Given the description of an element on the screen output the (x, y) to click on. 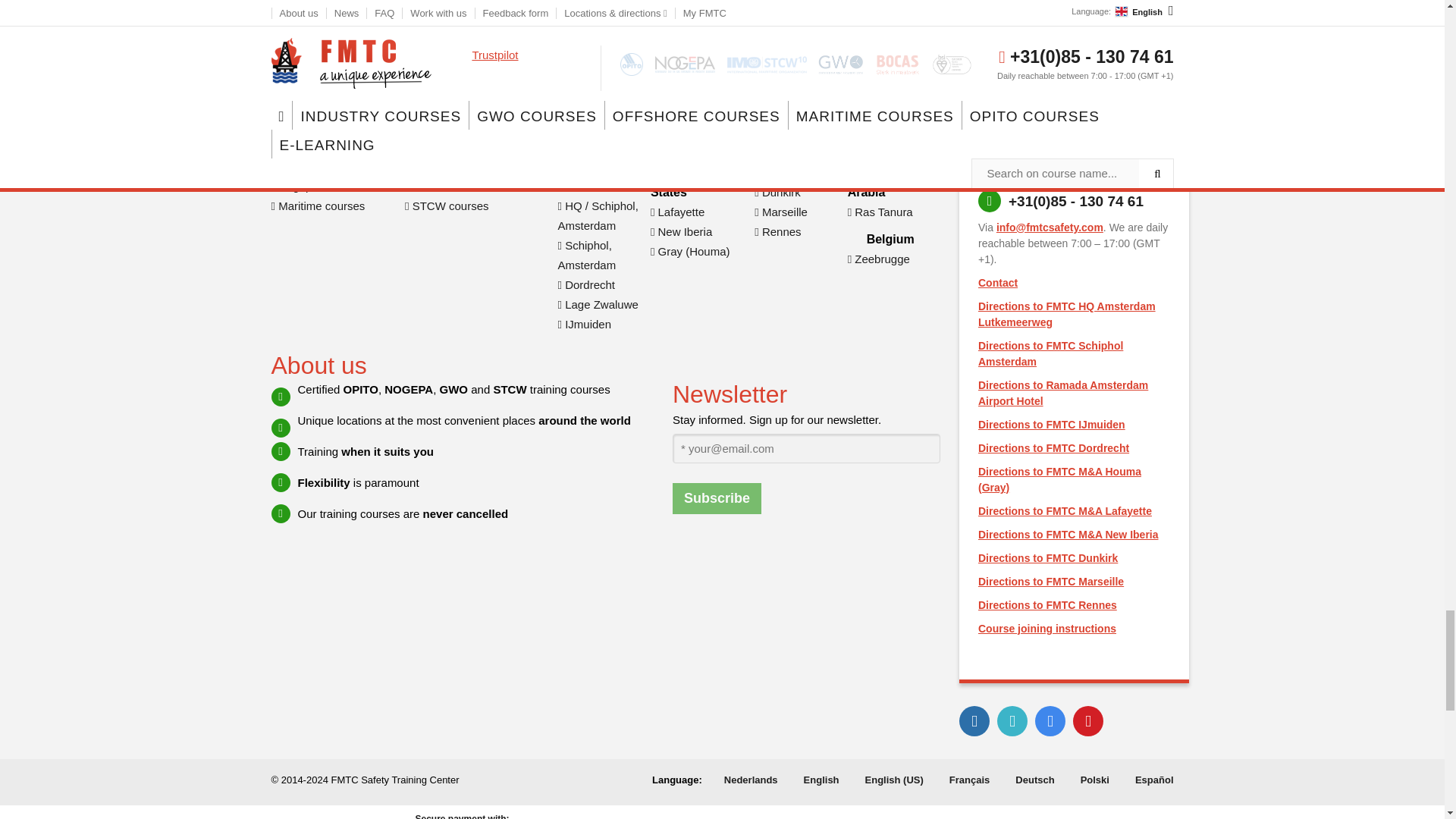
Subscribe (716, 498)
